Given the description of an element on the screen output the (x, y) to click on. 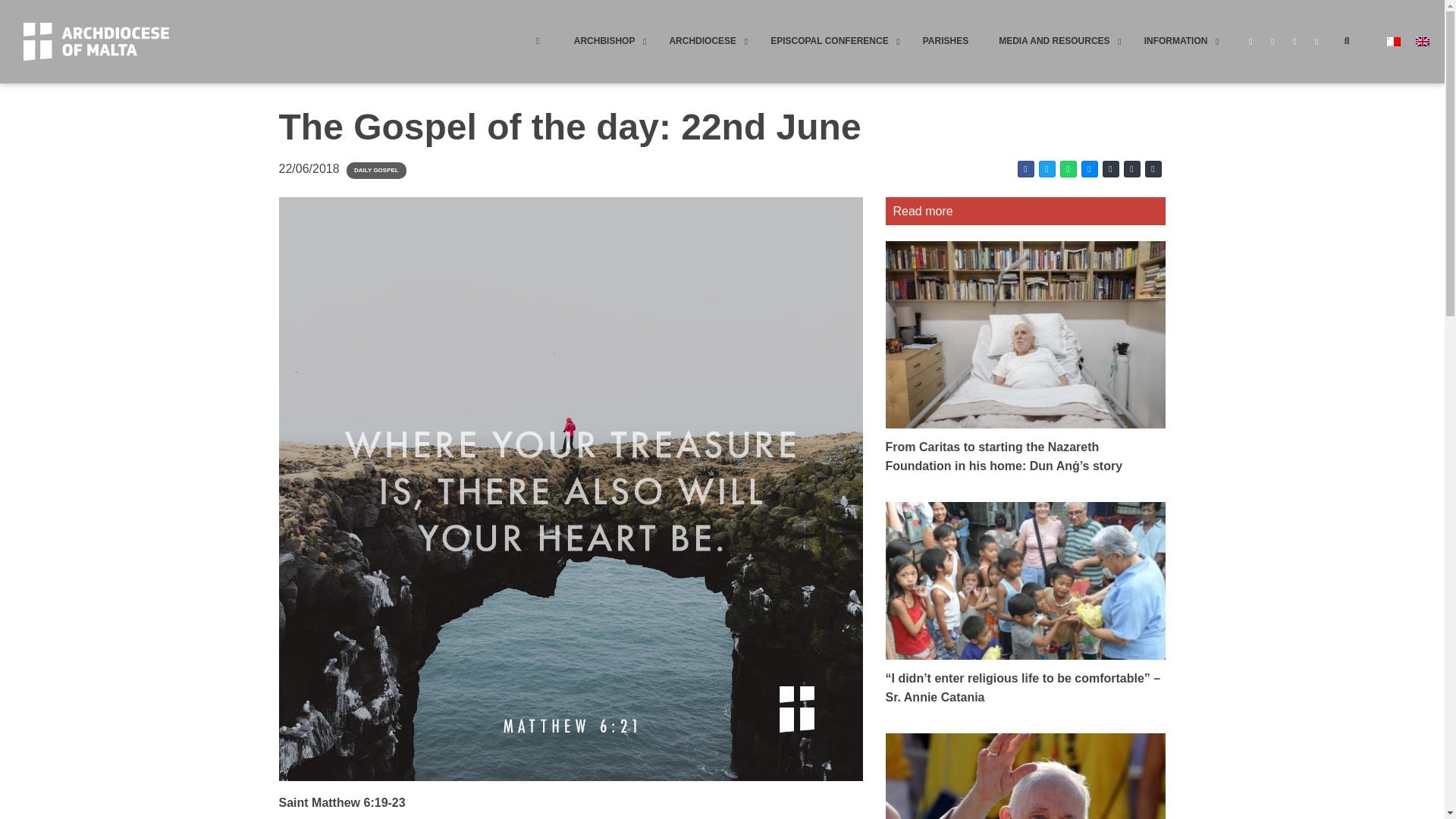
Daily Gospel (376, 170)
Malti (1393, 40)
MEDIA AND RESOURCES (1056, 41)
PARISHES (945, 41)
English (1422, 40)
ARCHBISHOP (606, 41)
EPISCOPAL CONFERENCE (831, 41)
ARCHDIOCESE (704, 41)
